Given the description of an element on the screen output the (x, y) to click on. 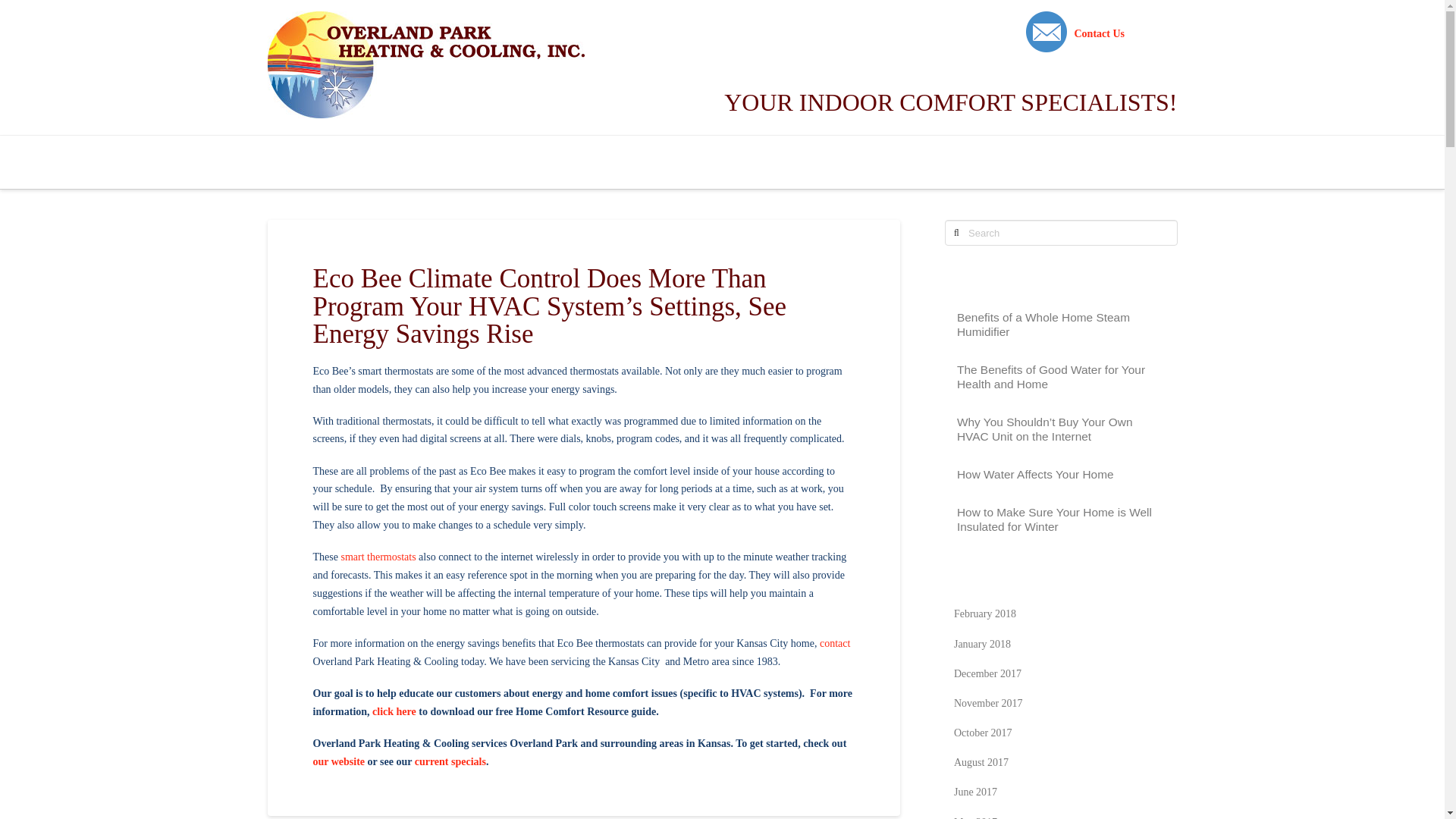
click here (394, 711)
current specials (450, 760)
smart thermostats (377, 556)
Contact Us (1099, 33)
FURNACE MAINTENANCE (564, 162)
contact (834, 643)
HOME (295, 162)
our website (339, 760)
AC MAINTENANCE (396, 162)
COUPONS (830, 162)
